Given the description of an element on the screen output the (x, y) to click on. 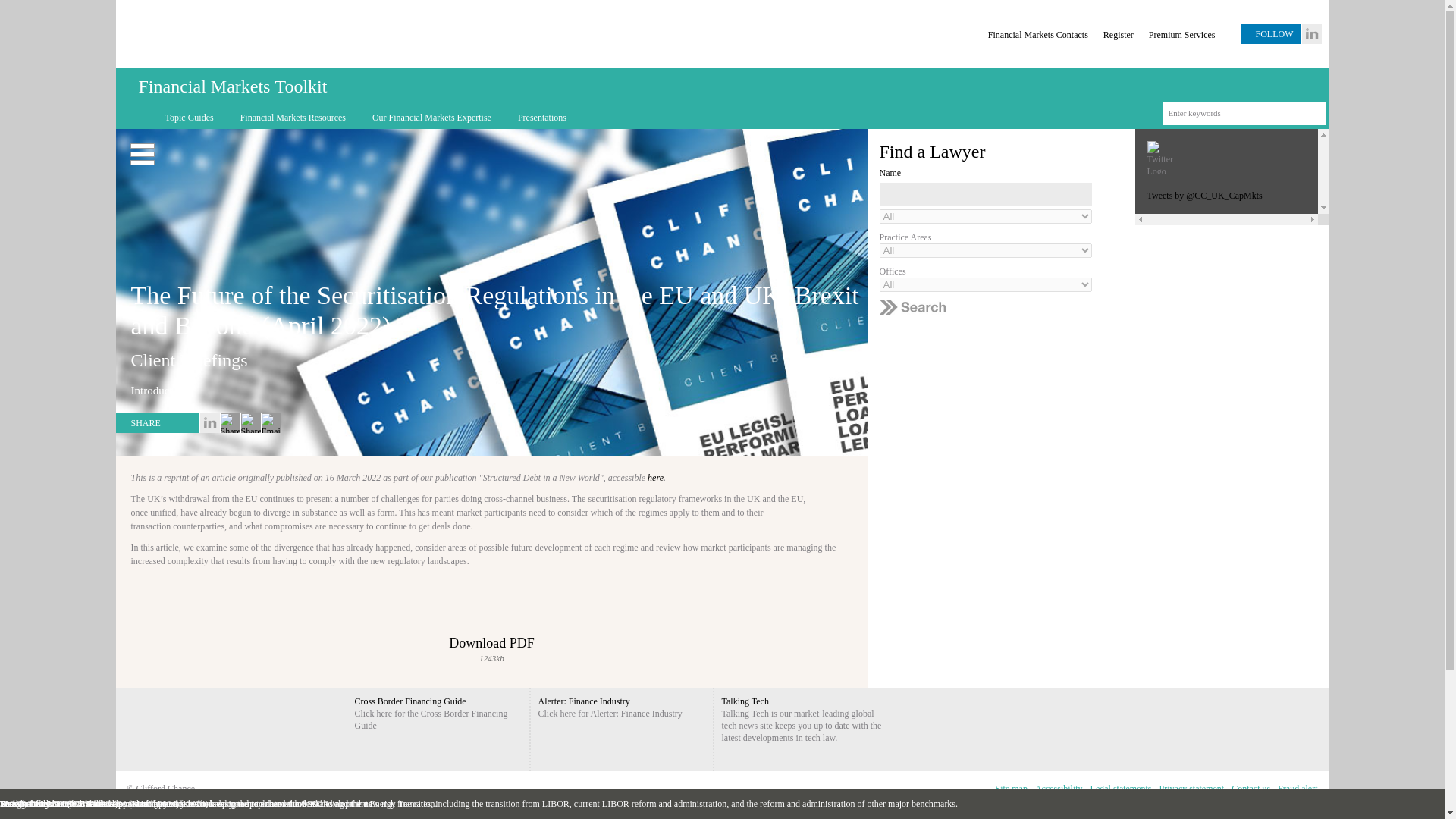
Topic Guides (187, 117)
Accessibility (1058, 788)
Enter keywords (1248, 112)
Clifford Chance (494, 38)
Contact us (1250, 788)
Download (491, 624)
Site map (1010, 788)
Privacy statement (1192, 788)
Fraud alert (1297, 788)
Financial Markets Resources (290, 117)
Search (1313, 113)
Enter keywords (1248, 112)
